Given the description of an element on the screen output the (x, y) to click on. 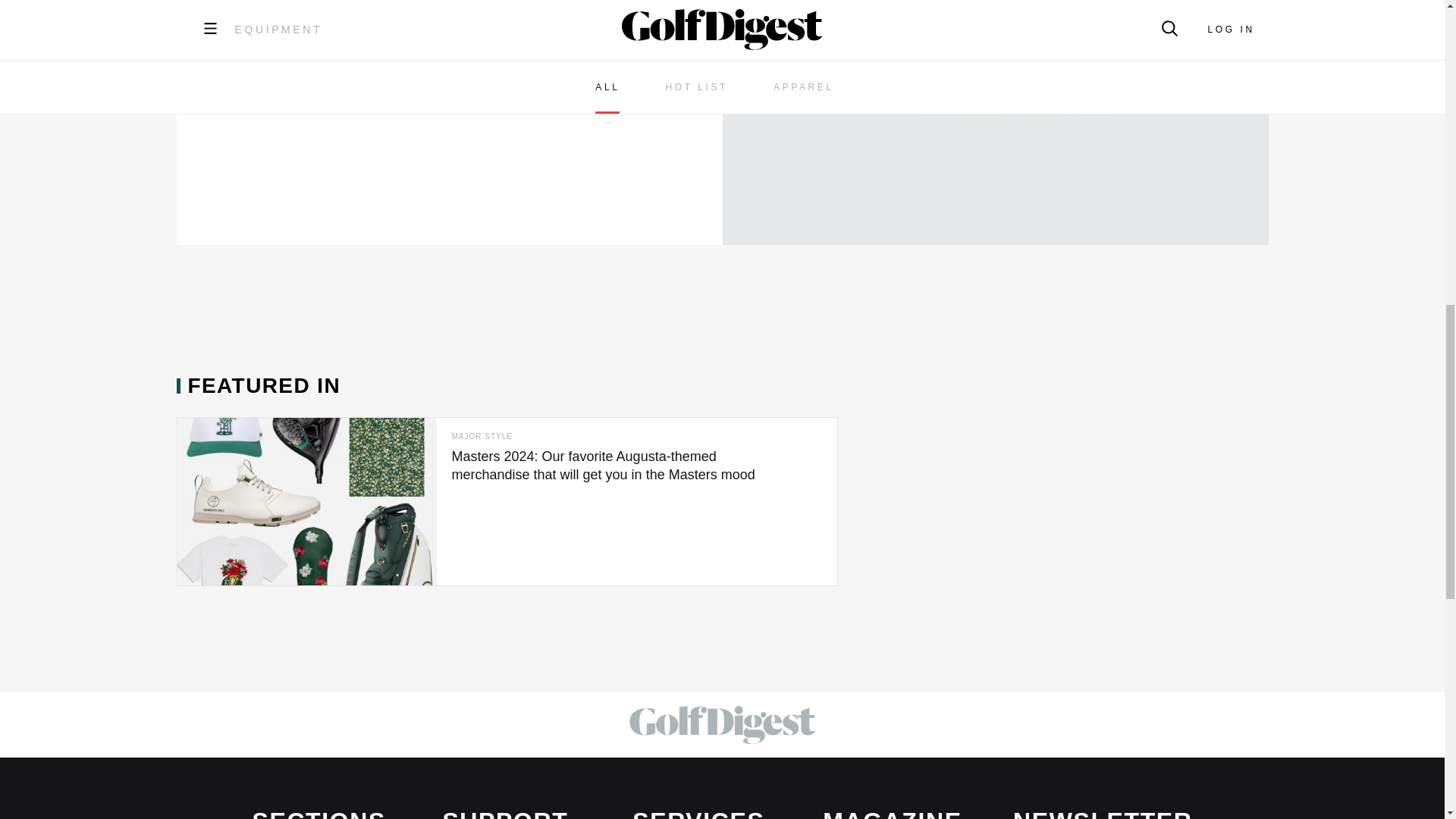
3rd party ad content (721, 339)
